Given the description of an element on the screen output the (x, y) to click on. 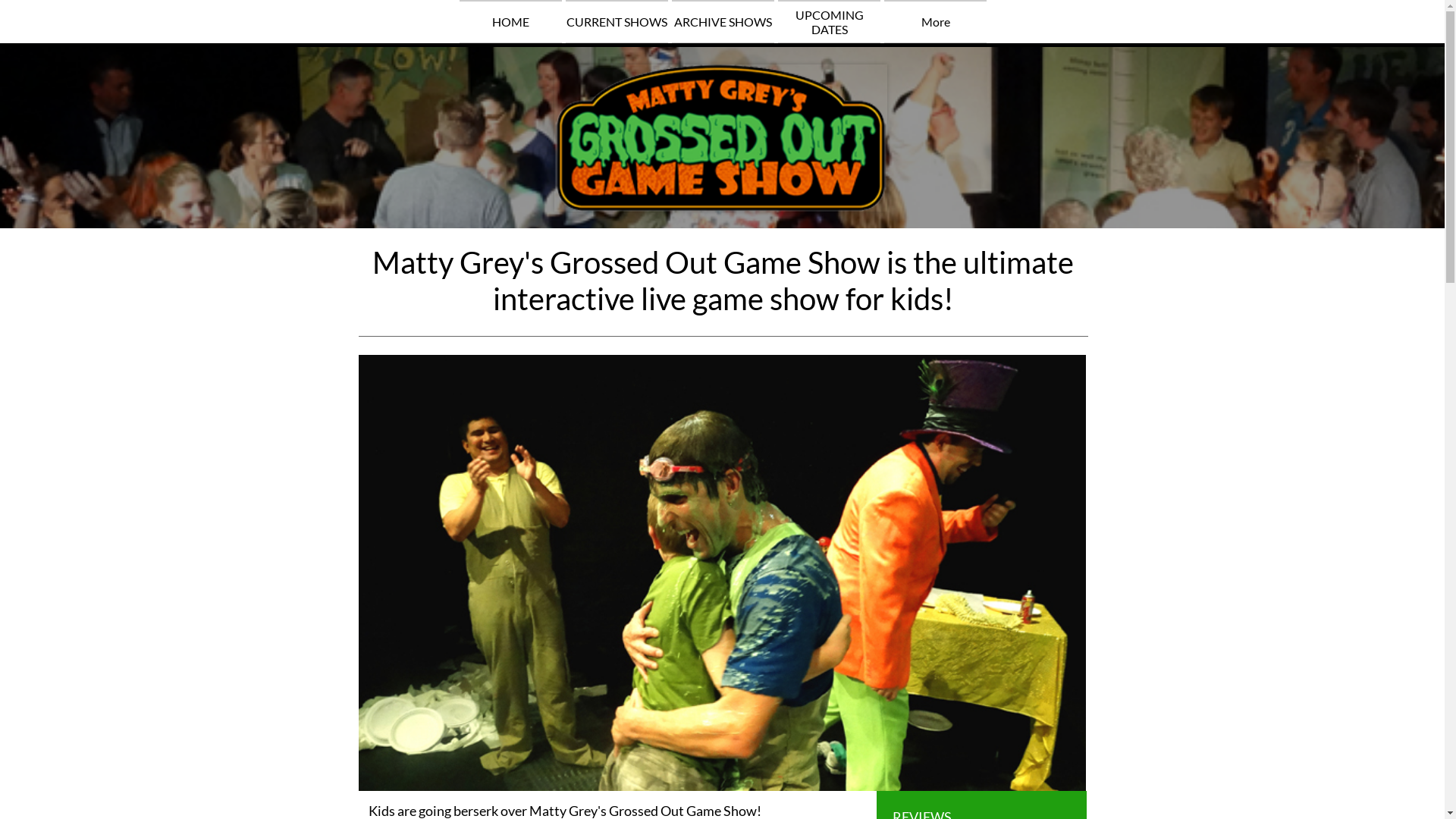
UPCOMING DATES Element type: text (829, 21)
ARCHIVE SHOWS Element type: text (722, 21)
CURRENT SHOWS Element type: text (616, 21)
HOME Element type: text (510, 21)
